Given the description of an element on the screen output the (x, y) to click on. 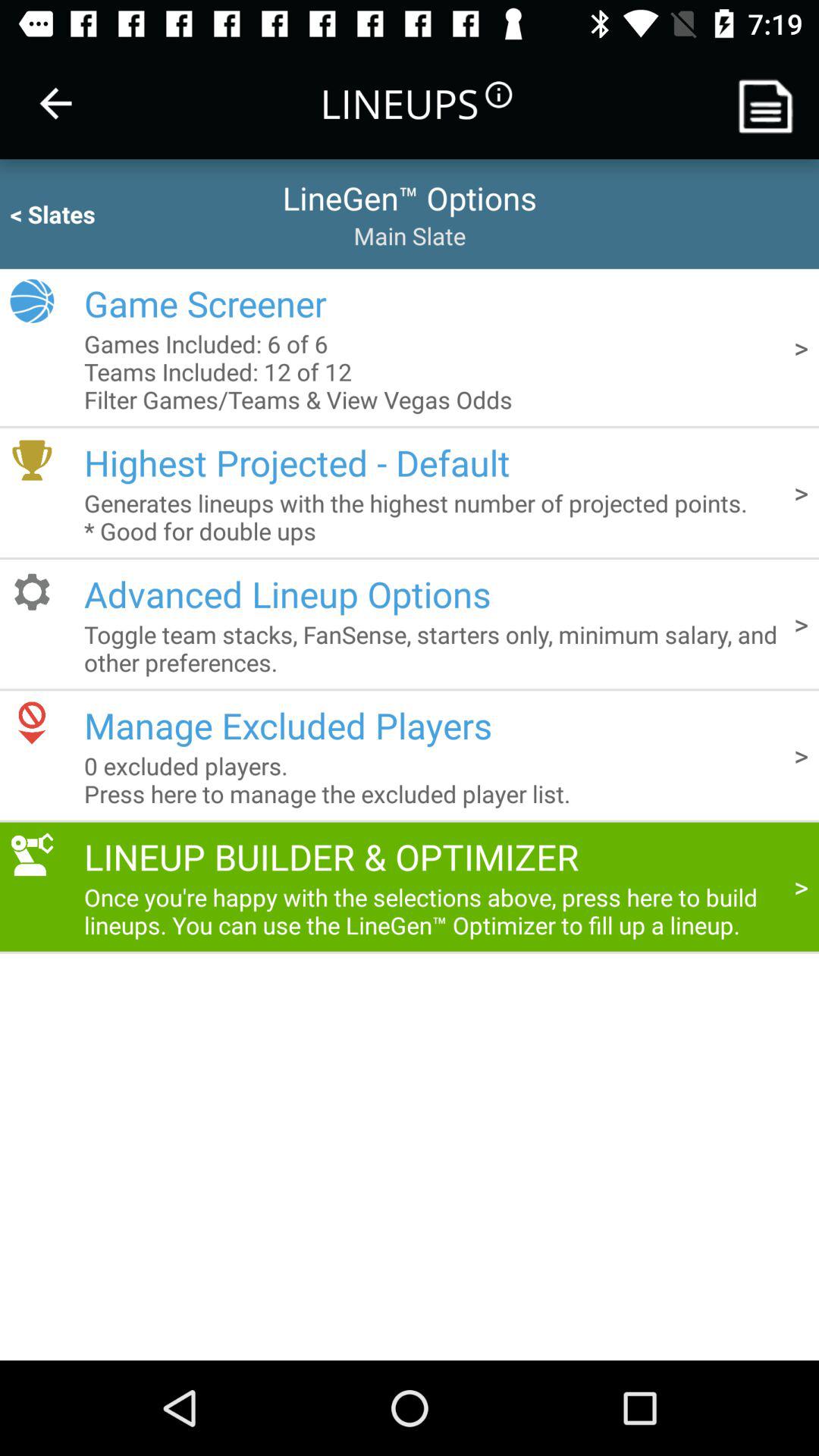
launch item next to the lineups (55, 103)
